Given the description of an element on the screen output the (x, y) to click on. 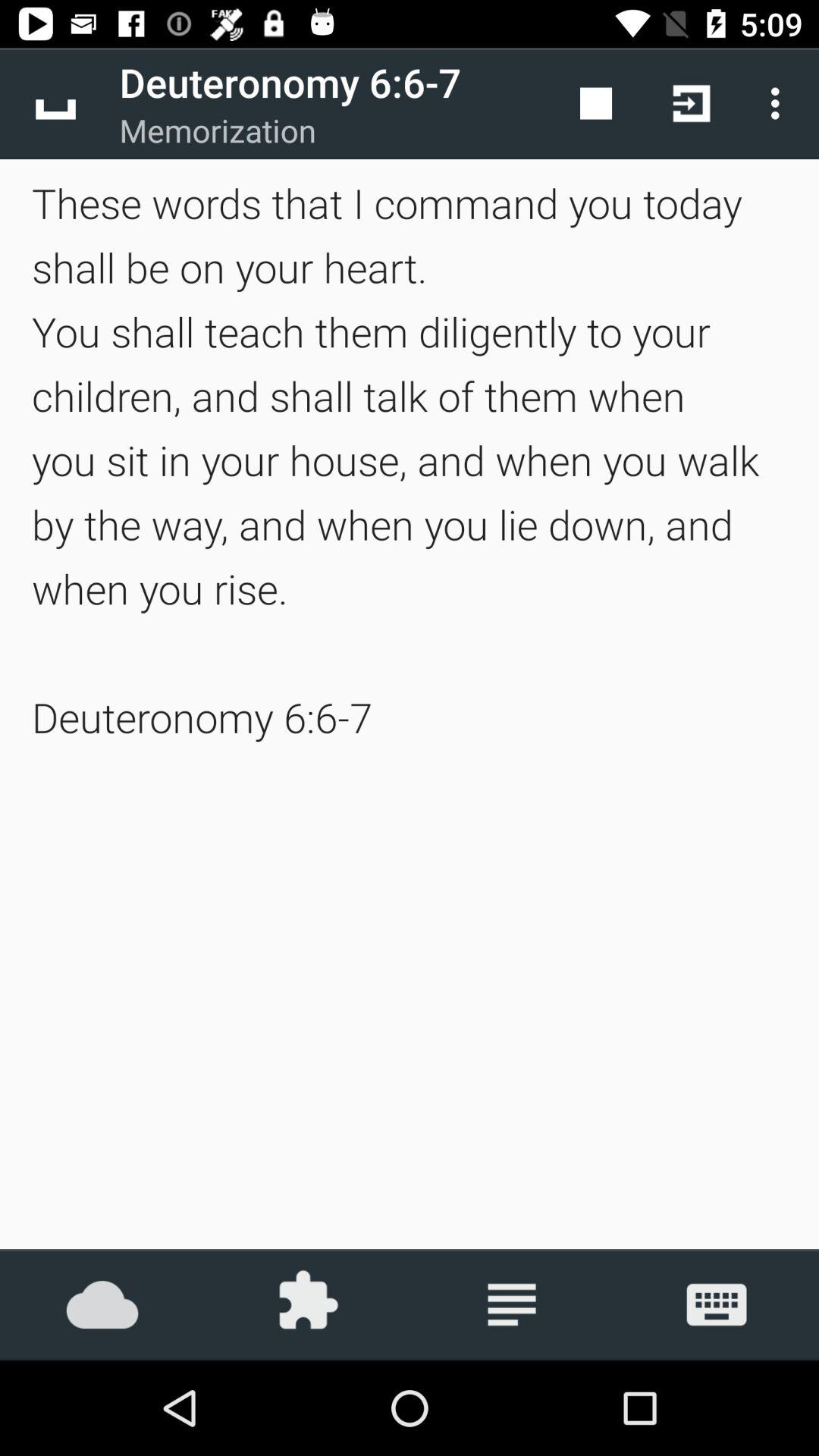
click icon at the bottom left corner (102, 1304)
